Given the description of an element on the screen output the (x, y) to click on. 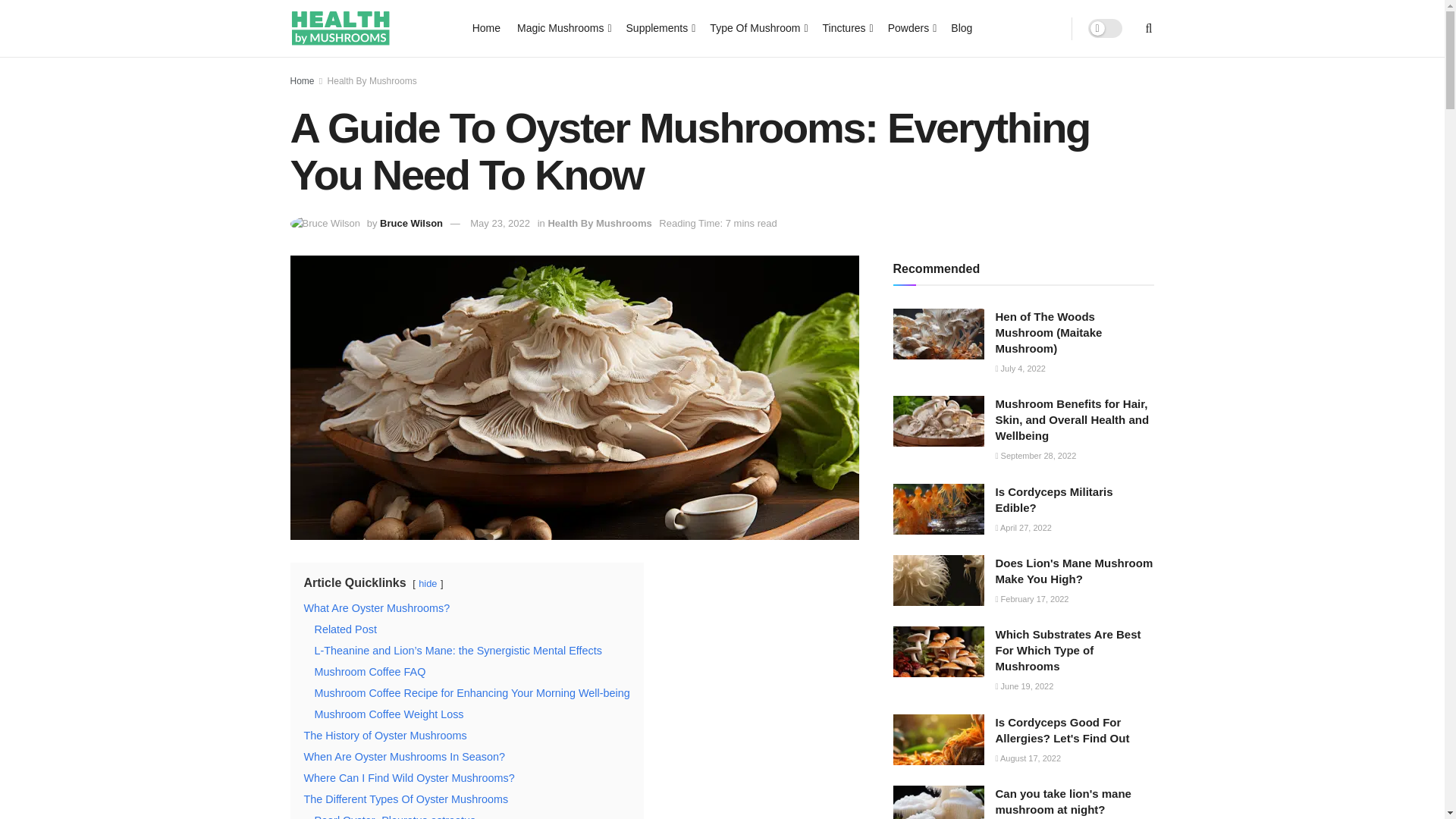
Home (485, 27)
Supplements (660, 27)
Type Of Mushroom (757, 27)
Magic Mushrooms (563, 27)
